Given the description of an element on the screen output the (x, y) to click on. 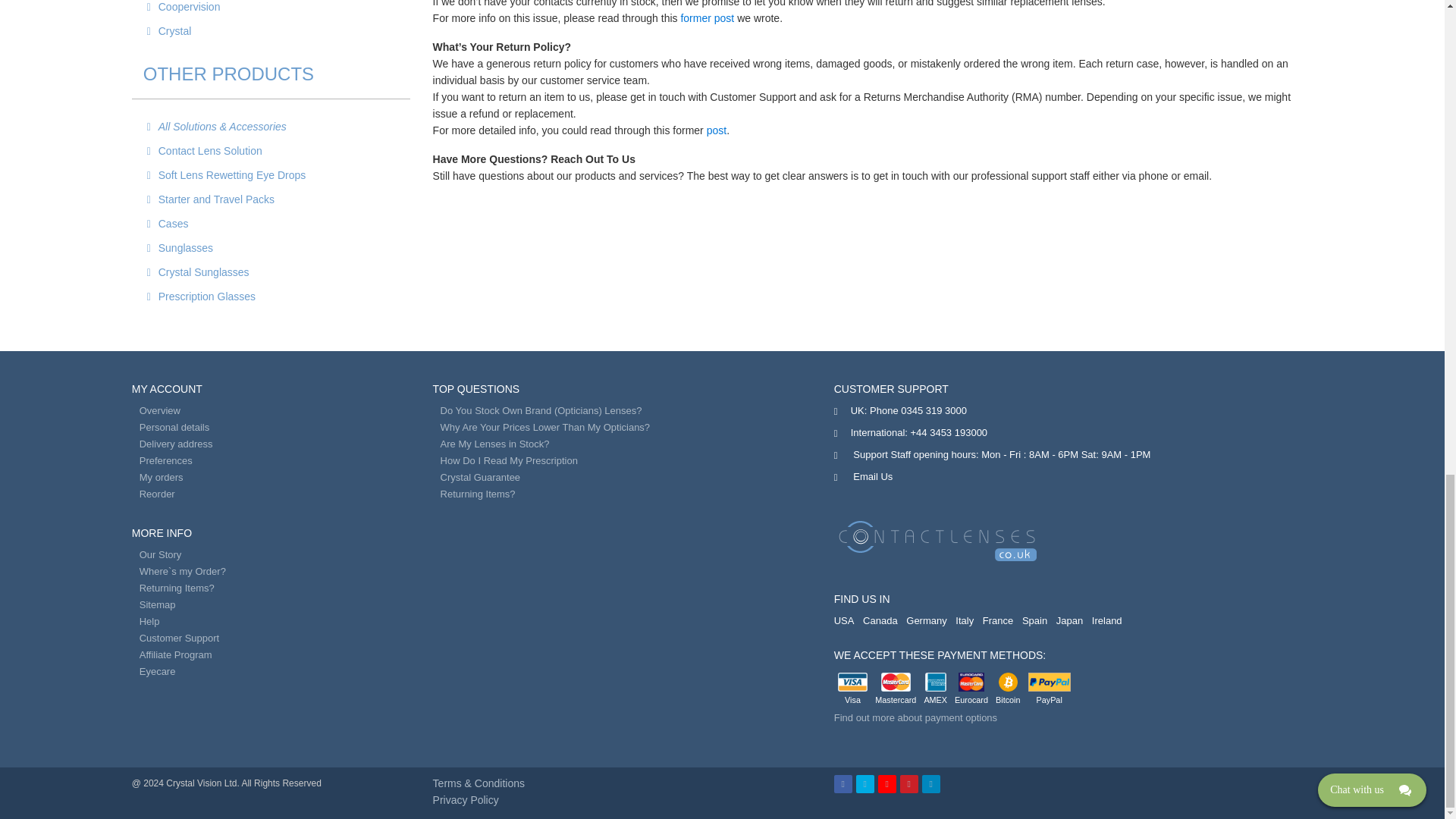
Pay with Eurocard (971, 681)
Contact Lenses Home (938, 540)
Pay with Bitcoin (1007, 681)
Pay with Visa (852, 681)
Pay with Mastercard (895, 681)
Pay with AMEX (935, 681)
Contact Lenses Home (938, 540)
Pay with PayPal (1048, 681)
